Given the description of an element on the screen output the (x, y) to click on. 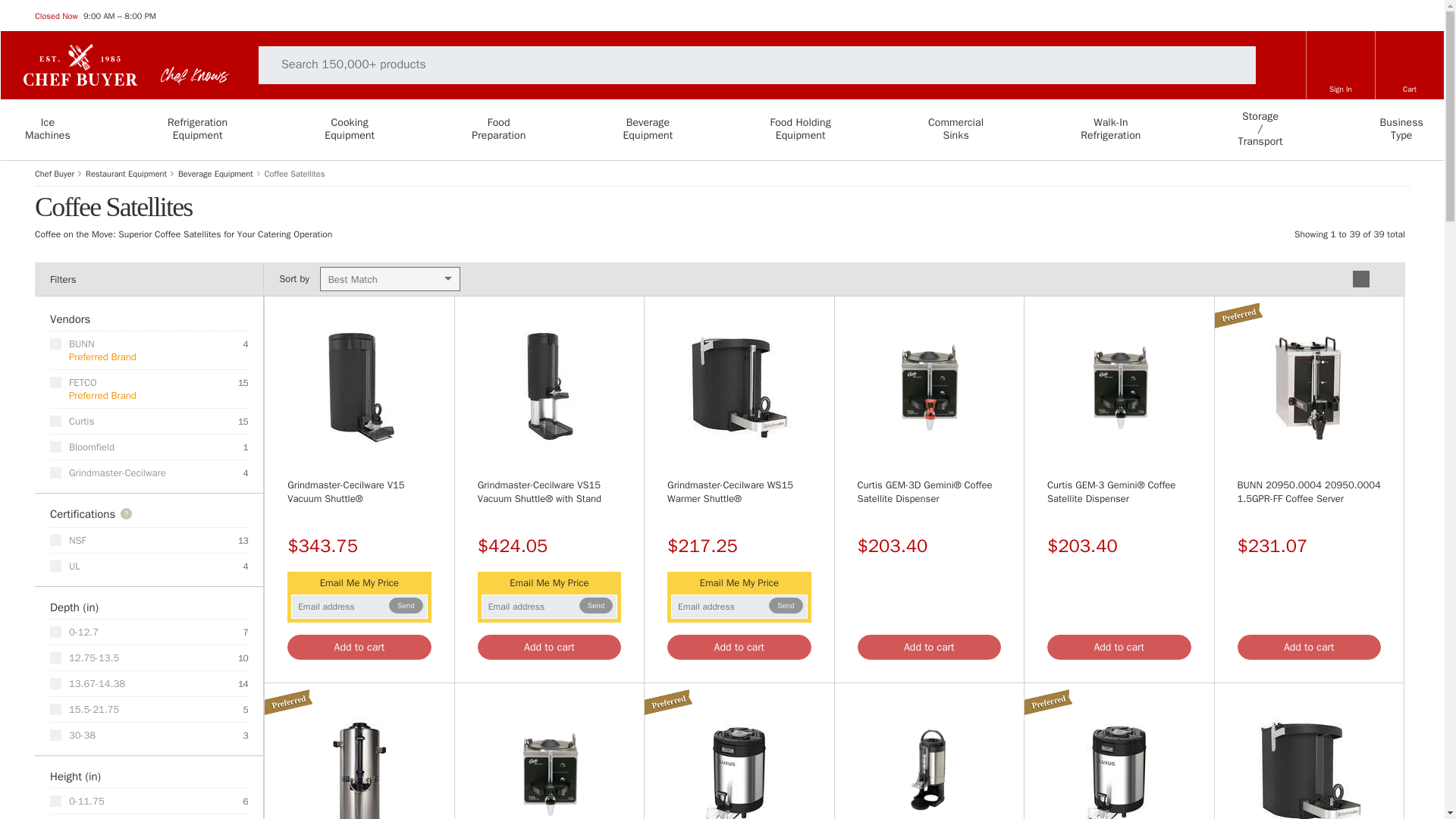
Ice Machines (45, 129)
Ice Machines (358, 597)
grid (45, 129)
Sign In (549, 597)
list (1358, 276)
Refrigeration Equipment (1340, 74)
